Given the description of an element on the screen output the (x, y) to click on. 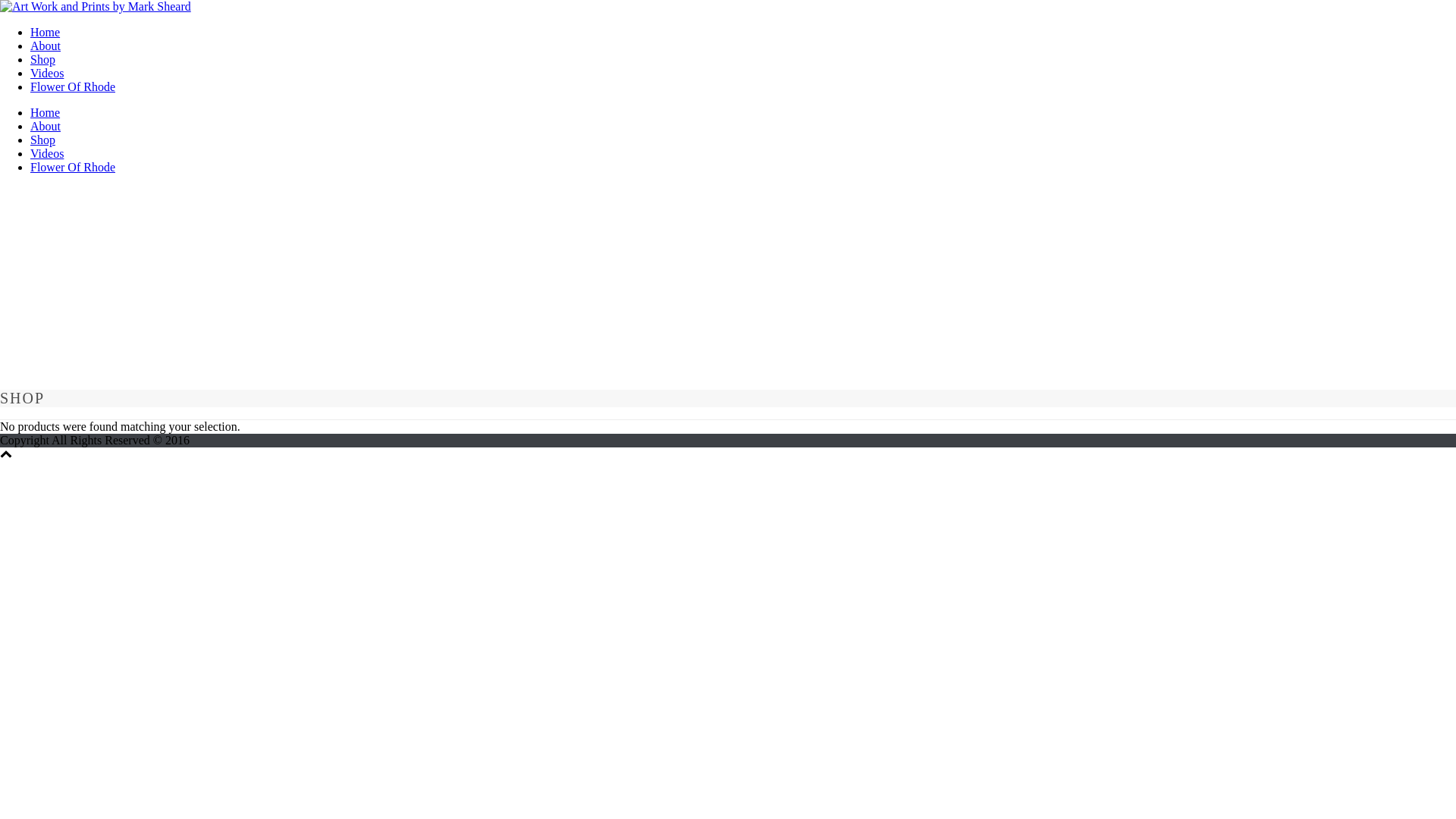
Shop Element type: text (42, 59)
Home Element type: text (44, 31)
Flower Of Rhode Element type: text (72, 86)
Shop Element type: text (42, 139)
Flower Of Rhode Element type: text (72, 166)
Mark Sheard Element type: hover (95, 6)
About Element type: text (45, 45)
Art Work and Prints by Mark Sheard Element type: hover (95, 6)
Videos Element type: text (46, 153)
Videos Element type: text (46, 72)
About Element type: text (45, 125)
Home Element type: text (44, 112)
